Given the description of an element on the screen output the (x, y) to click on. 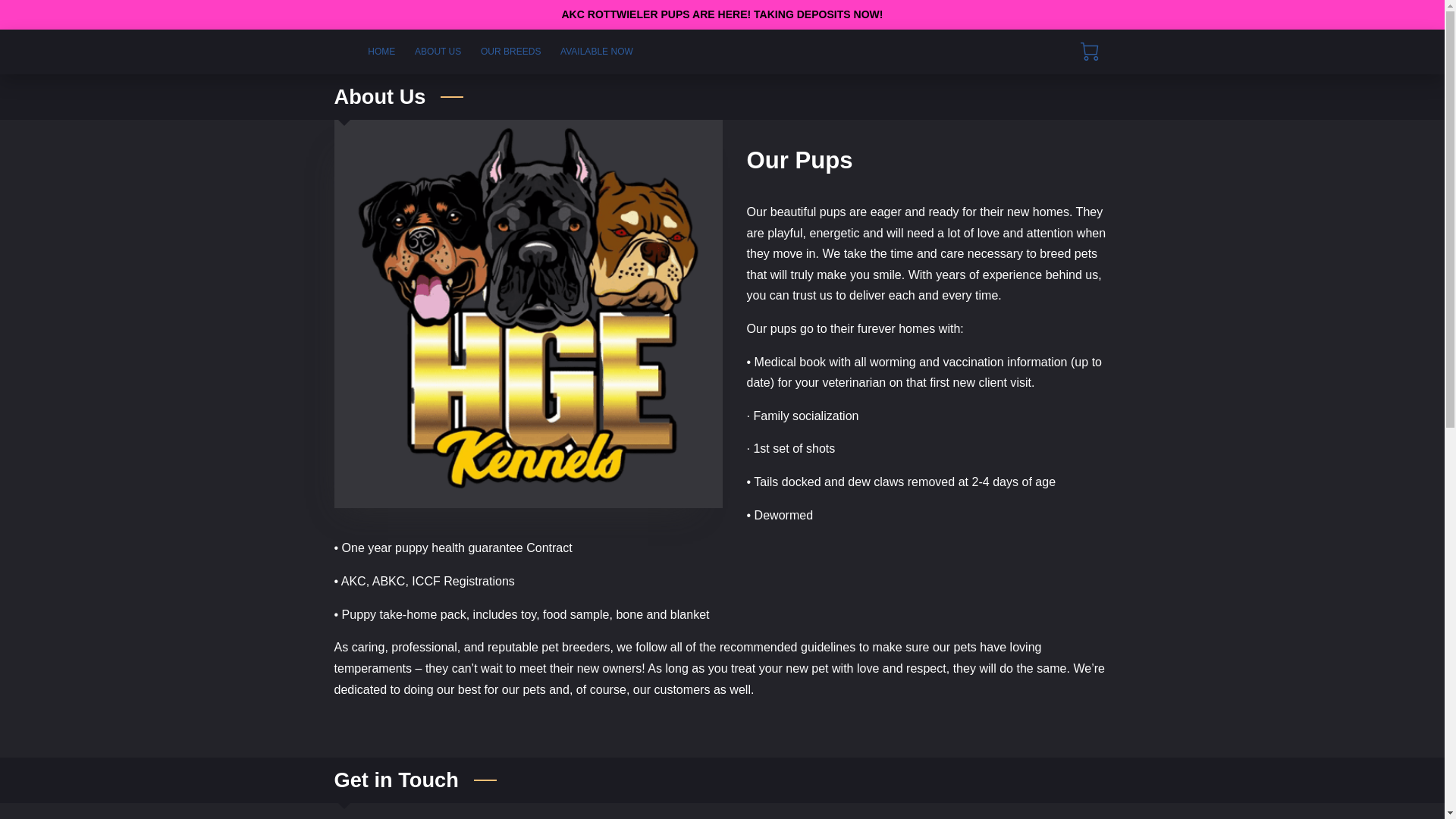
ABOUT US (437, 51)
0 (1088, 51)
OUR BREEDS (510, 51)
HOME (381, 51)
AVAILABLE NOW (596, 51)
